Given the description of an element on the screen output the (x, y) to click on. 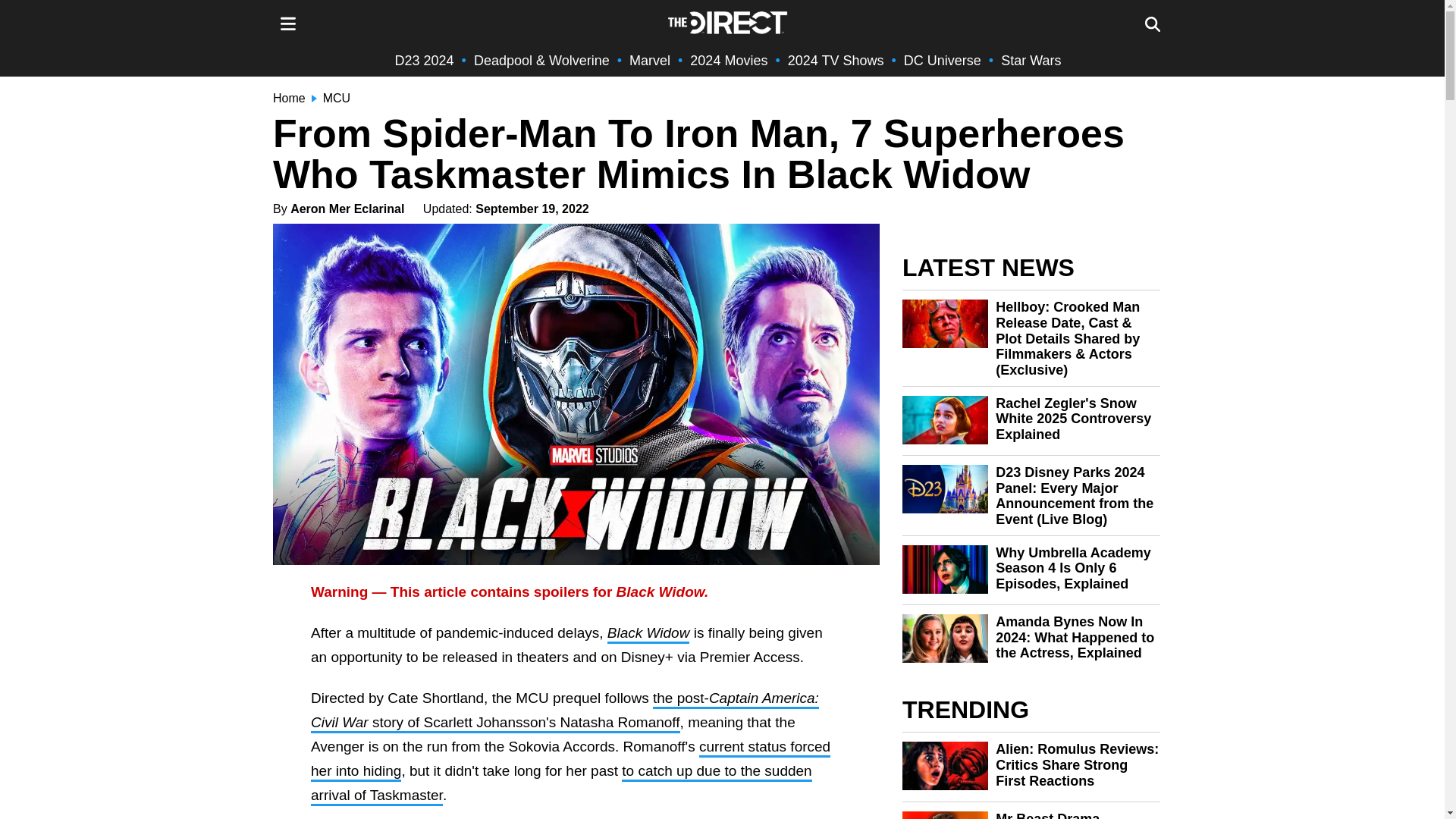
2024 TV Shows (835, 60)
Marvel (648, 60)
2024 Movies (728, 60)
DC Universe (942, 60)
Star Wars (1031, 60)
D23 2024 (424, 60)
